Given the description of an element on the screen output the (x, y) to click on. 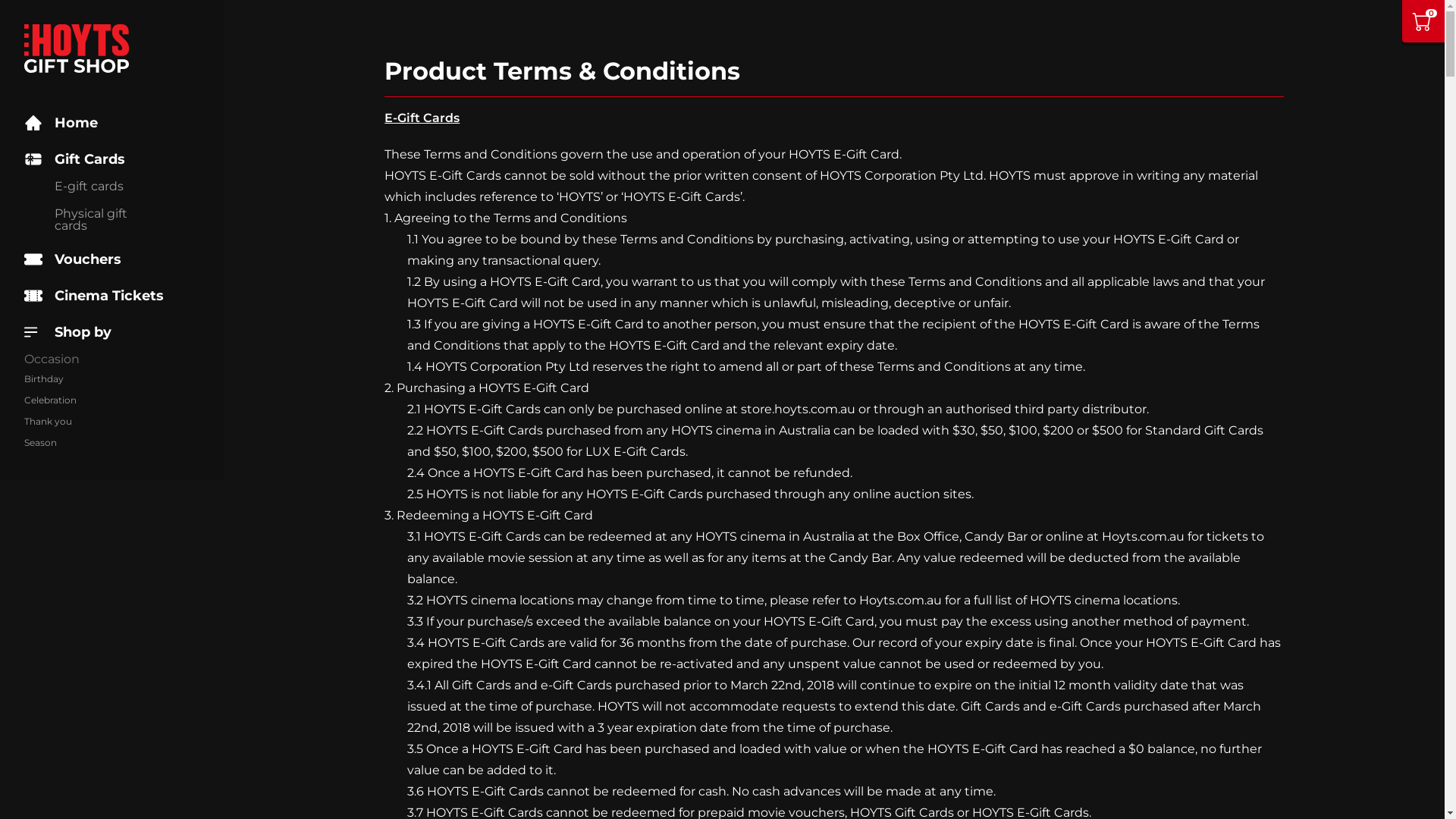
Cinema Tickets Element type: text (93, 295)
Celebration Element type: text (49, 399)
0 Element type: text (1423, 21)
E-gift cards Element type: text (98, 186)
Physical gift cards Element type: text (98, 219)
Vouchers Element type: text (72, 259)
Birthday Element type: text (49, 378)
Shop by Element type: text (111, 332)
Gift Cards Element type: text (111, 159)
Season Element type: text (49, 442)
Thank you Element type: text (49, 421)
Home Element type: text (60, 122)
